Given the description of an element on the screen output the (x, y) to click on. 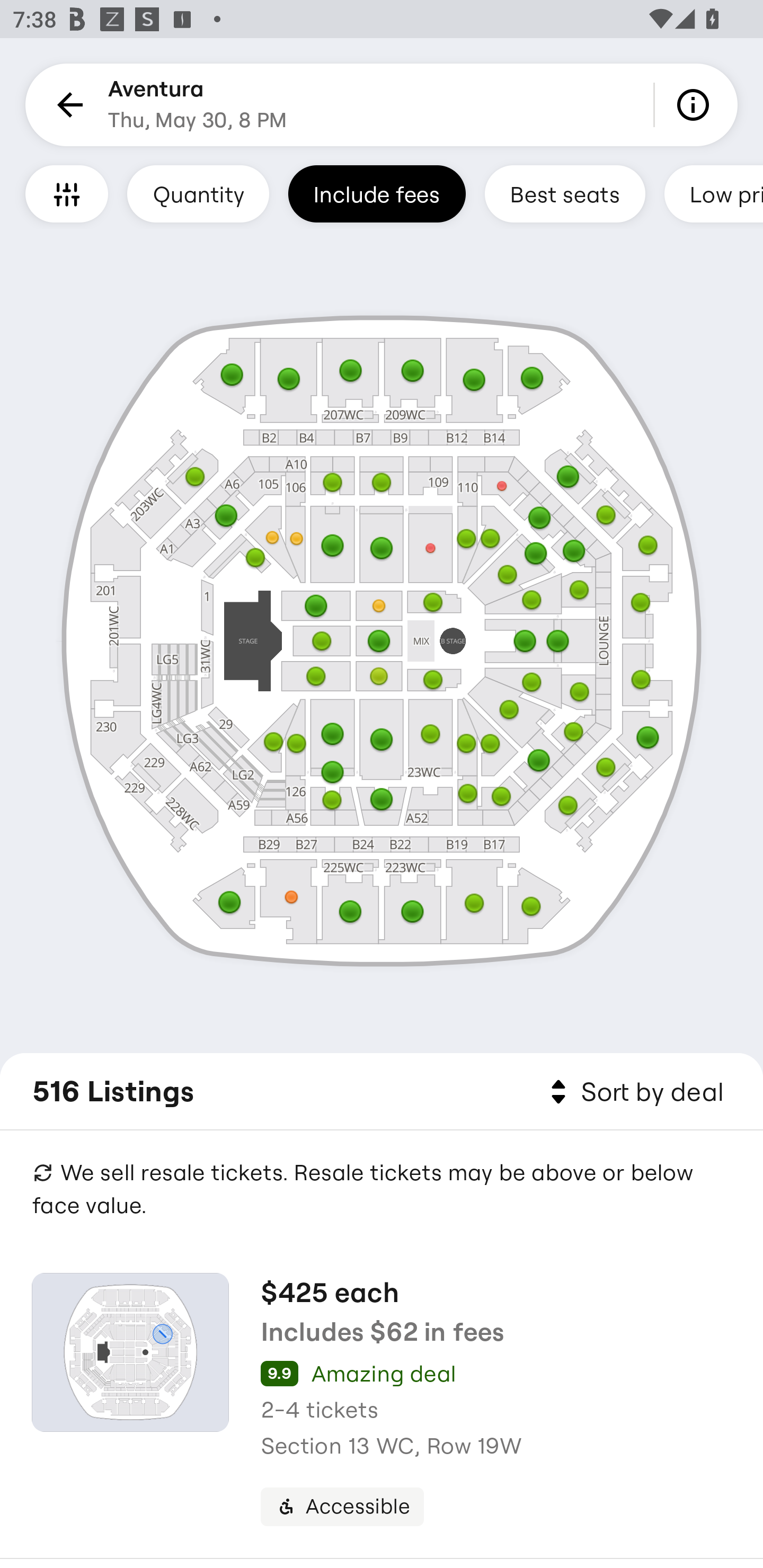
Back (66, 104)
Aventura Thu, May 30, 8 PM (197, 104)
Info (695, 104)
Filters and Accessible Seating (66, 193)
Quantity (198, 193)
Include fees (376, 193)
Best seats (564, 193)
Sort by deal (633, 1091)
